Given the description of an element on the screen output the (x, y) to click on. 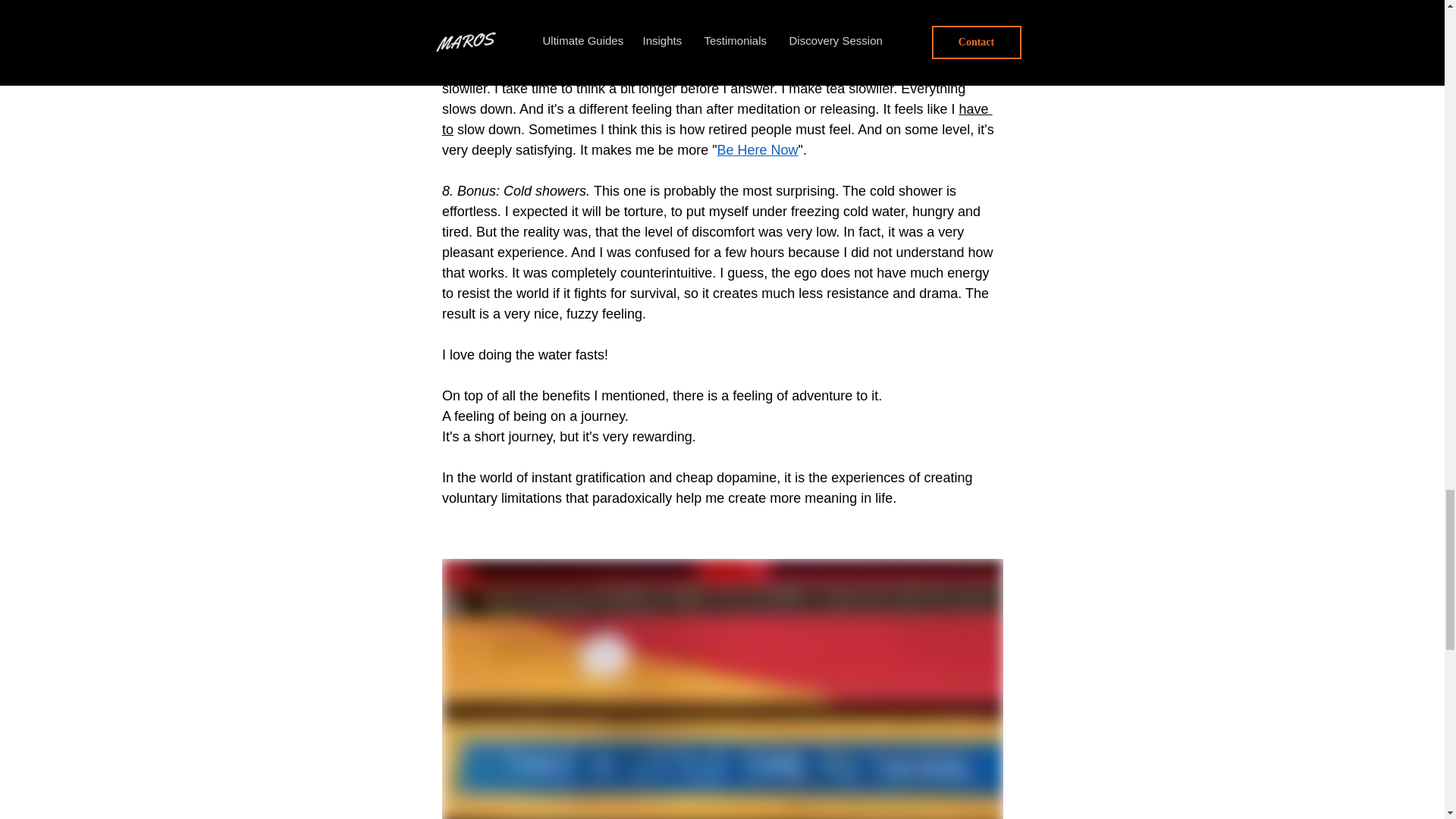
Be Here Now (756, 150)
